Given the description of an element on the screen output the (x, y) to click on. 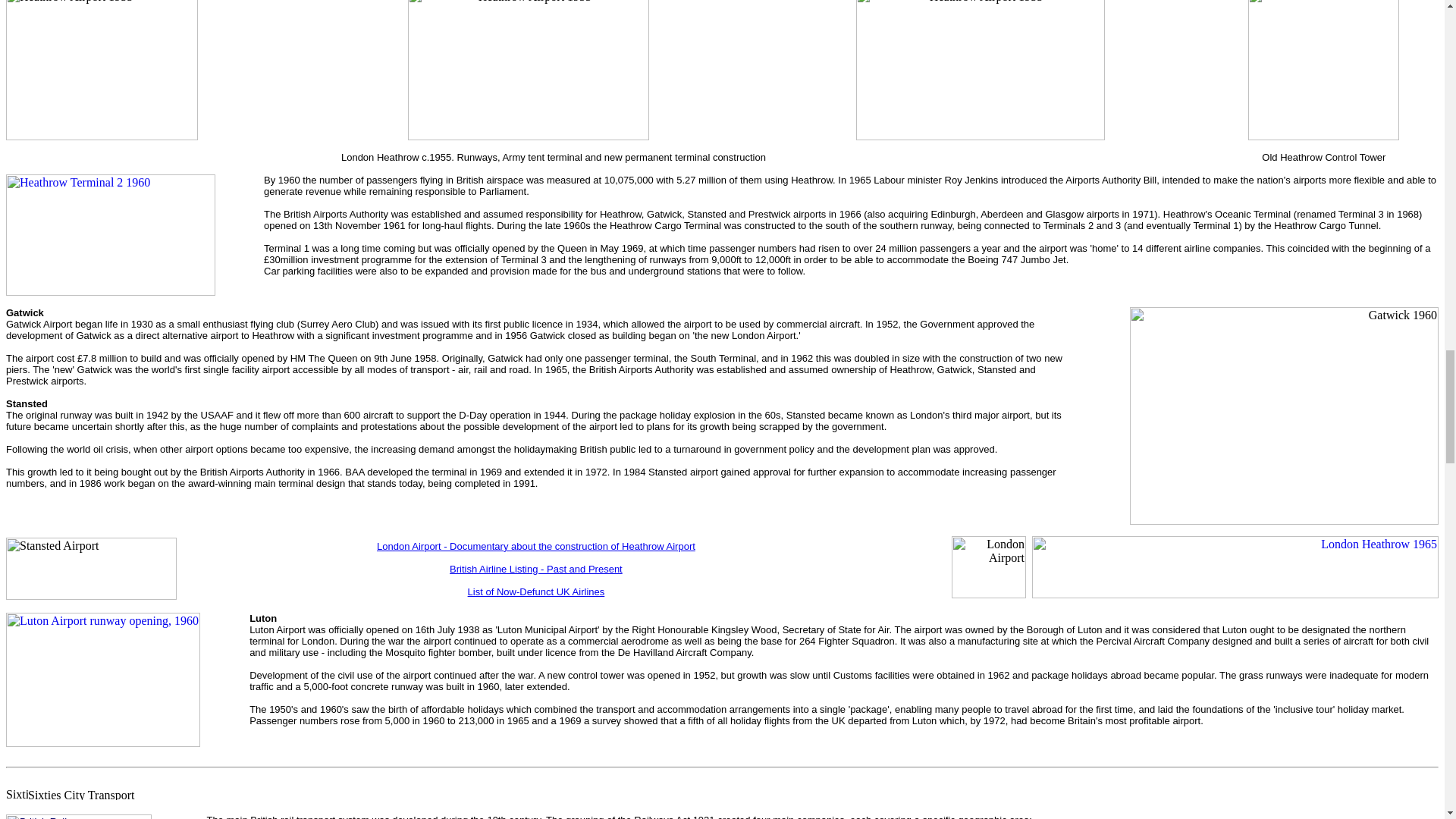
List of Now-Defunct UK Airlines (536, 591)
British Airline Listing - Past and Present (536, 574)
